Given the description of an element on the screen output the (x, y) to click on. 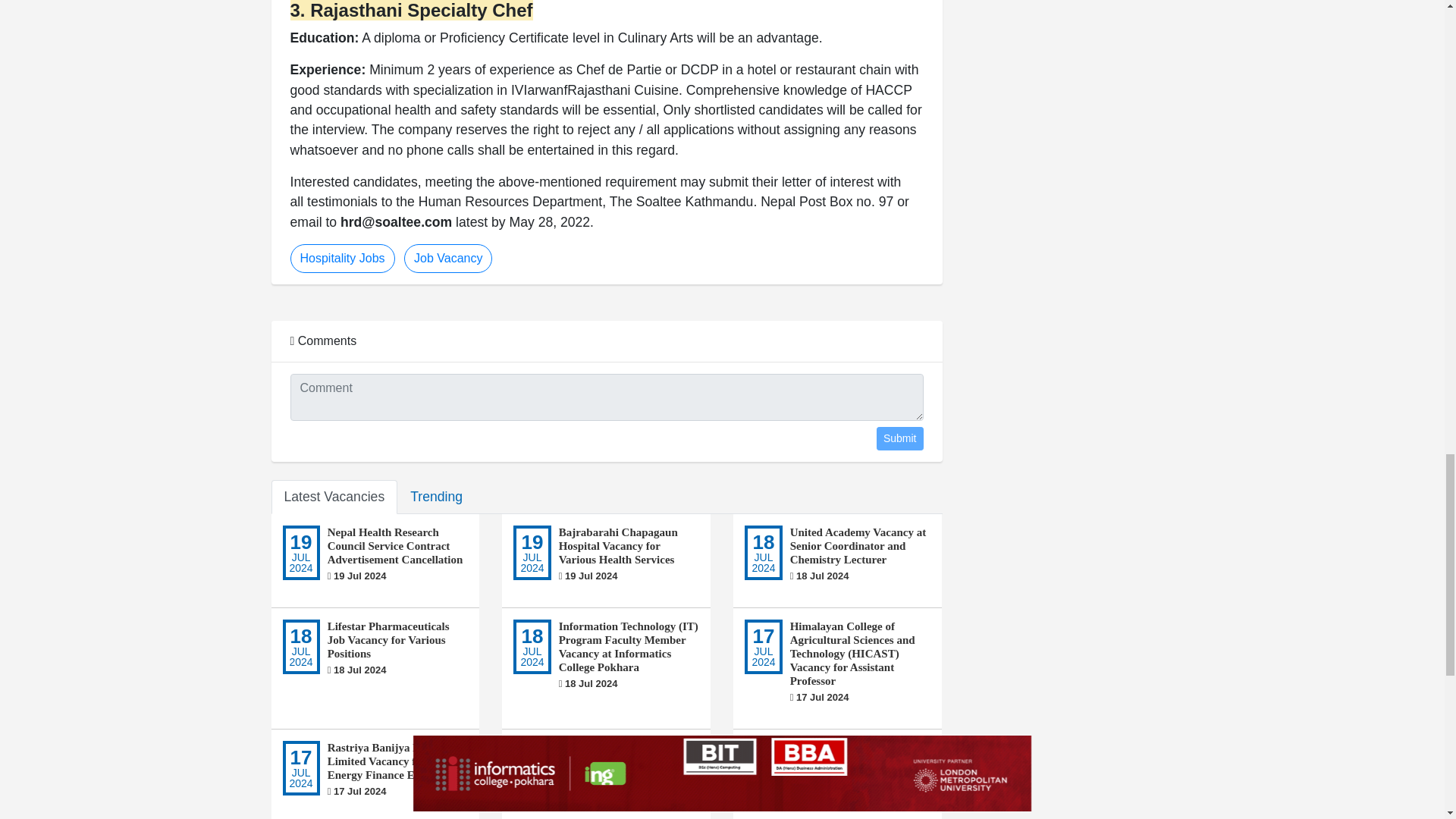
Submit (899, 438)
Hospitality Jobs (341, 258)
Latest Vacancies (333, 496)
Job Vacancy (448, 258)
Trending (436, 496)
